Given the description of an element on the screen output the (x, y) to click on. 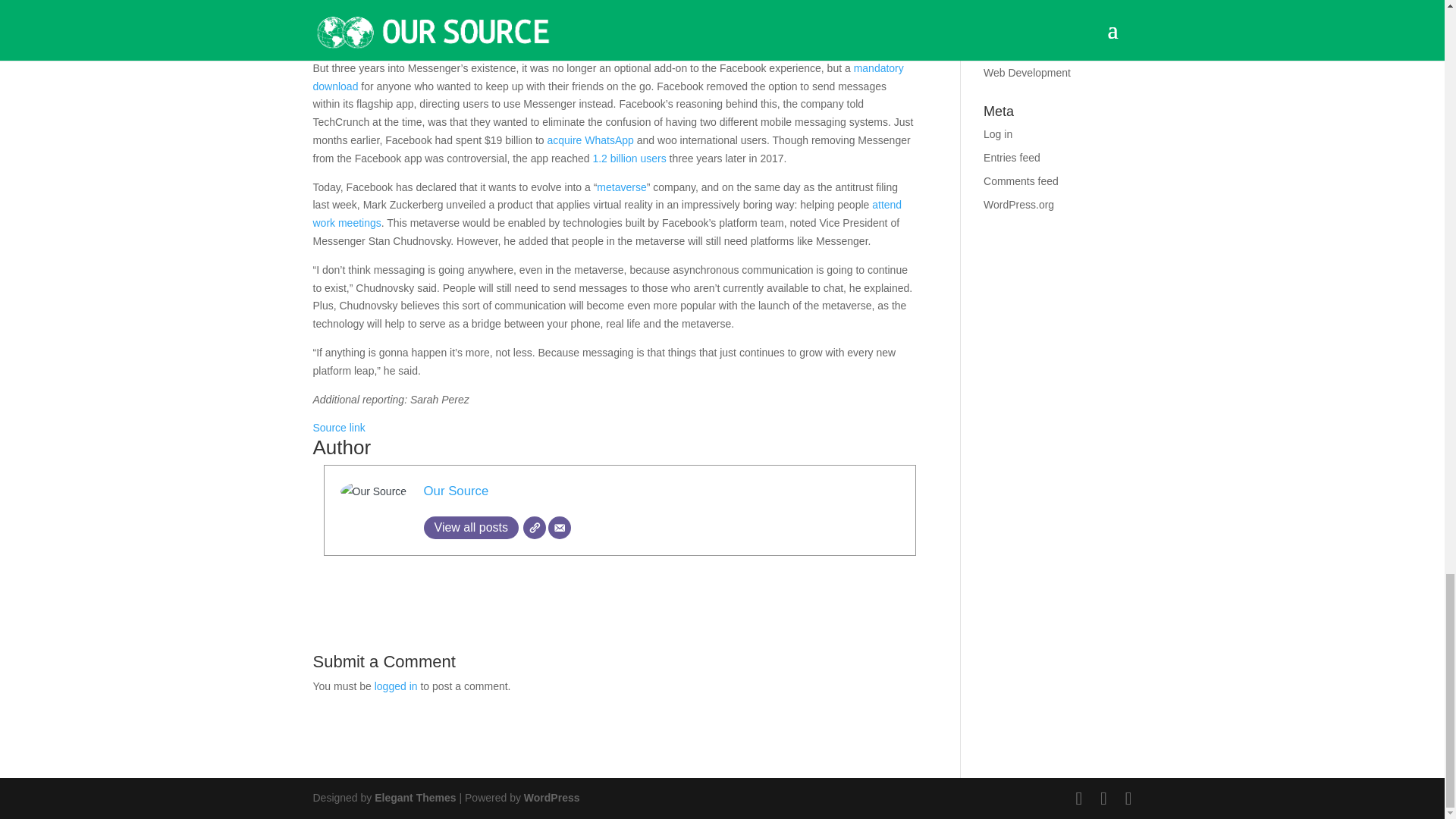
white whale (550, 21)
acquire WhatsApp (590, 140)
Our Source (455, 490)
unveiled Messenger (360, 39)
View all posts (470, 527)
1.2 billion users (628, 158)
metaverse (621, 186)
View all posts (470, 527)
Premium WordPress Themes (414, 797)
Our Source (455, 490)
Source link (339, 427)
attend work meetings (607, 214)
mandatory download (607, 77)
logged in (395, 686)
acqui-hired (461, 4)
